Given the description of an element on the screen output the (x, y) to click on. 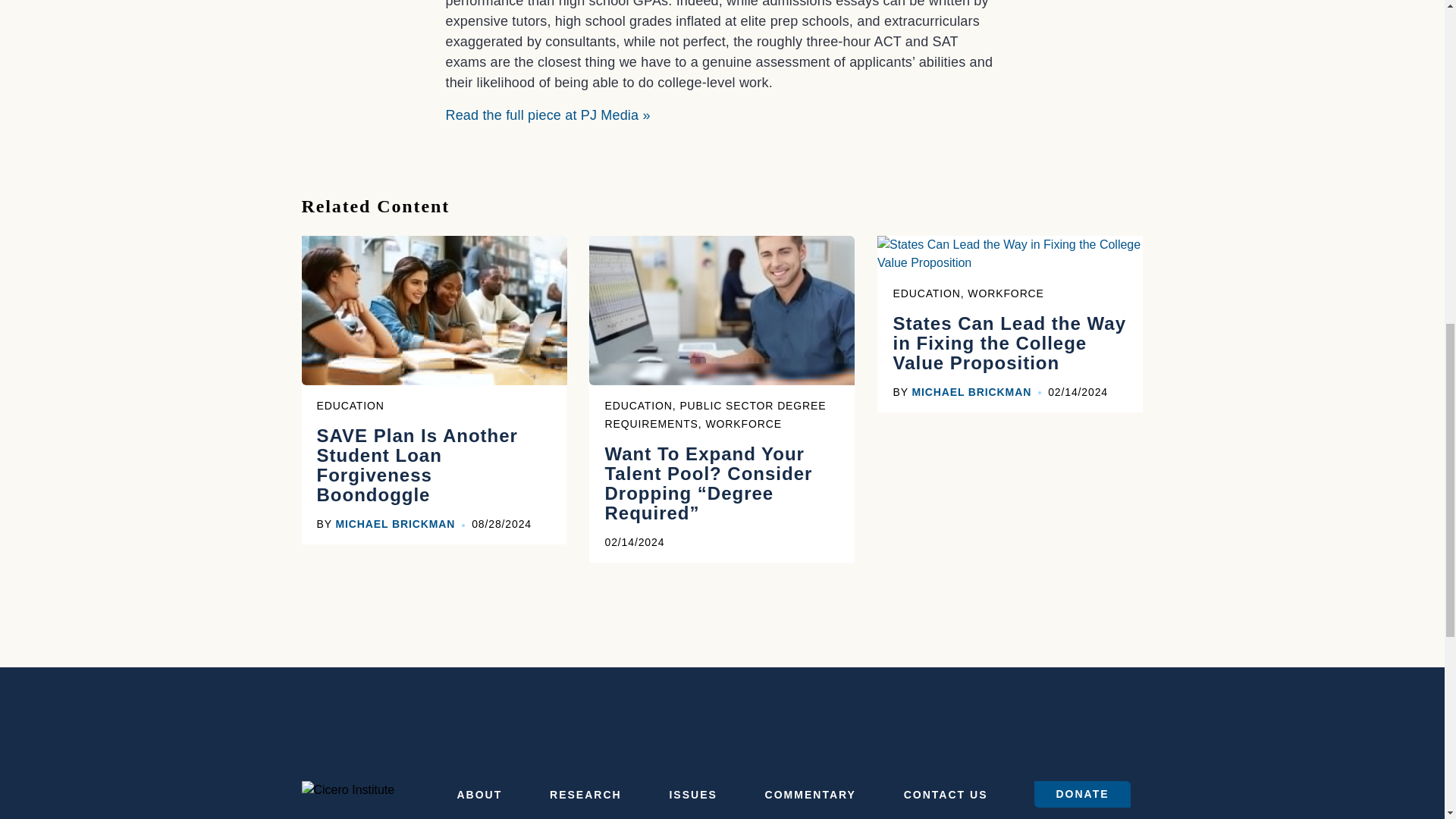
EDUCATION (350, 405)
MICHAEL BRICKMAN (394, 523)
EDUCATION (925, 293)
SAVE Plan Is Another Student Loan Forgiveness Boondoggle (434, 478)
WORKFORCE (1005, 293)
WORKFORCE (742, 423)
MICHAEL BRICKMAN (970, 391)
PUBLIC SECTOR DEGREE REQUIREMENTS (714, 414)
EDUCATION (637, 405)
